Given the description of an element on the screen output the (x, y) to click on. 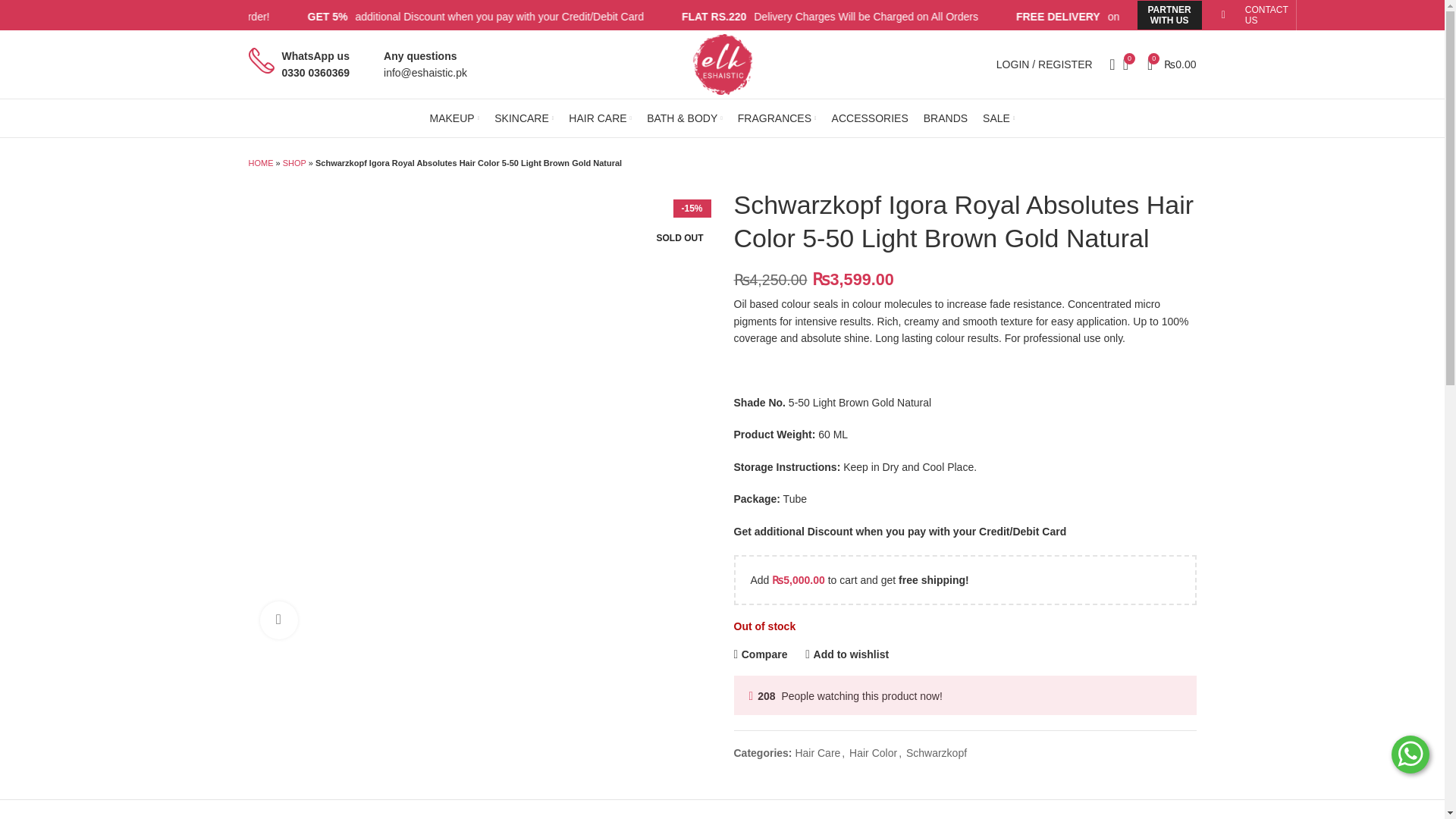
CONTACT US (1266, 15)
My account (1044, 64)
PARTNER WITH US (1169, 15)
ic-call (261, 60)
SKINCARE (524, 118)
FRAGRANCES (777, 118)
MAKEUP (454, 118)
HAIR CARE (600, 118)
Shopping cart (1172, 64)
